Given the description of an element on the screen output the (x, y) to click on. 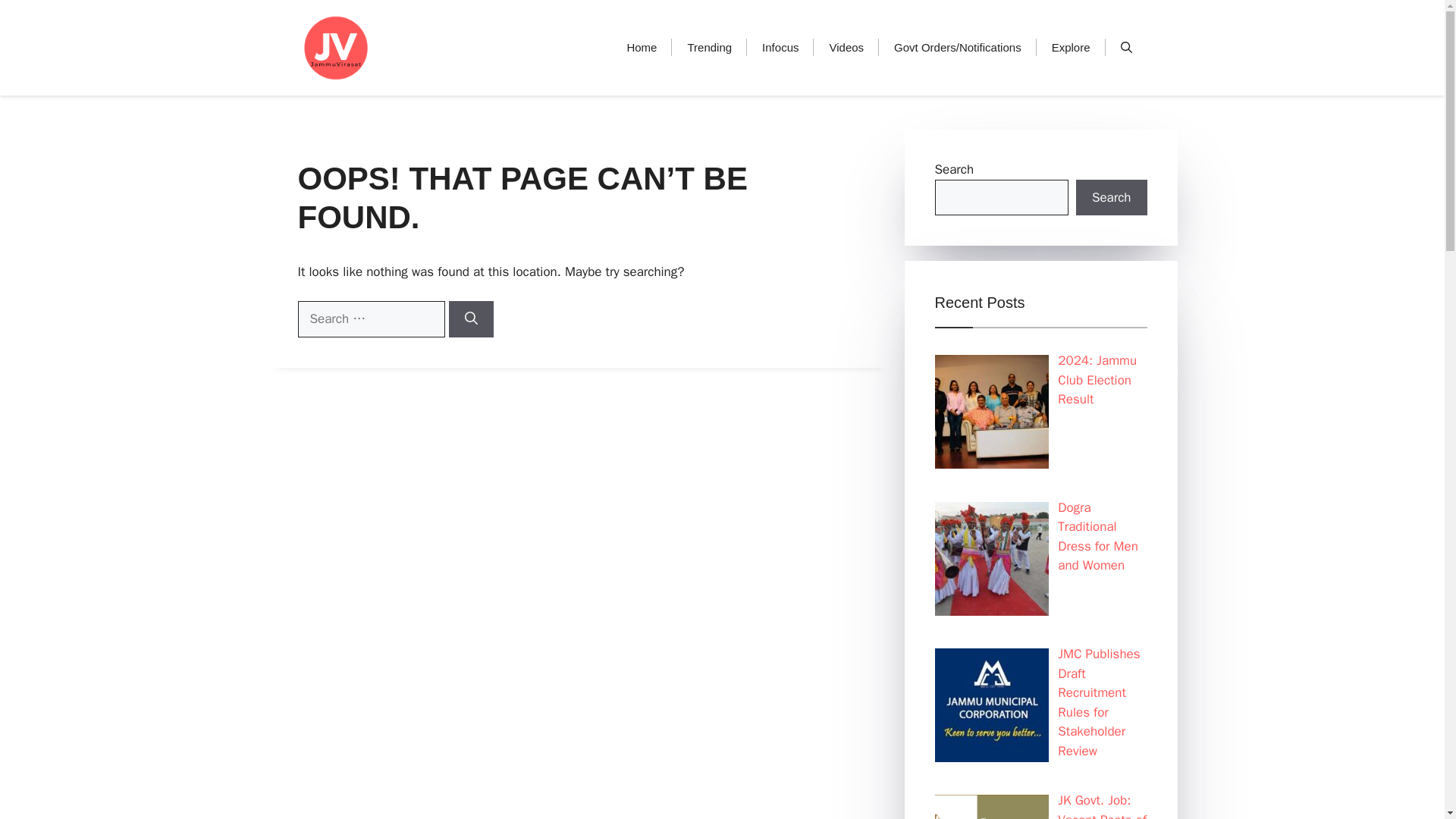
Trending (708, 47)
Infocus (779, 47)
Dogra Traditional Dress for Men and Women (1098, 536)
Videos (846, 47)
Explore (1070, 47)
2024: Jammu Club Election Result (1097, 379)
Search (1111, 197)
Home (641, 47)
Search for: (370, 319)
